Given the description of an element on the screen output the (x, y) to click on. 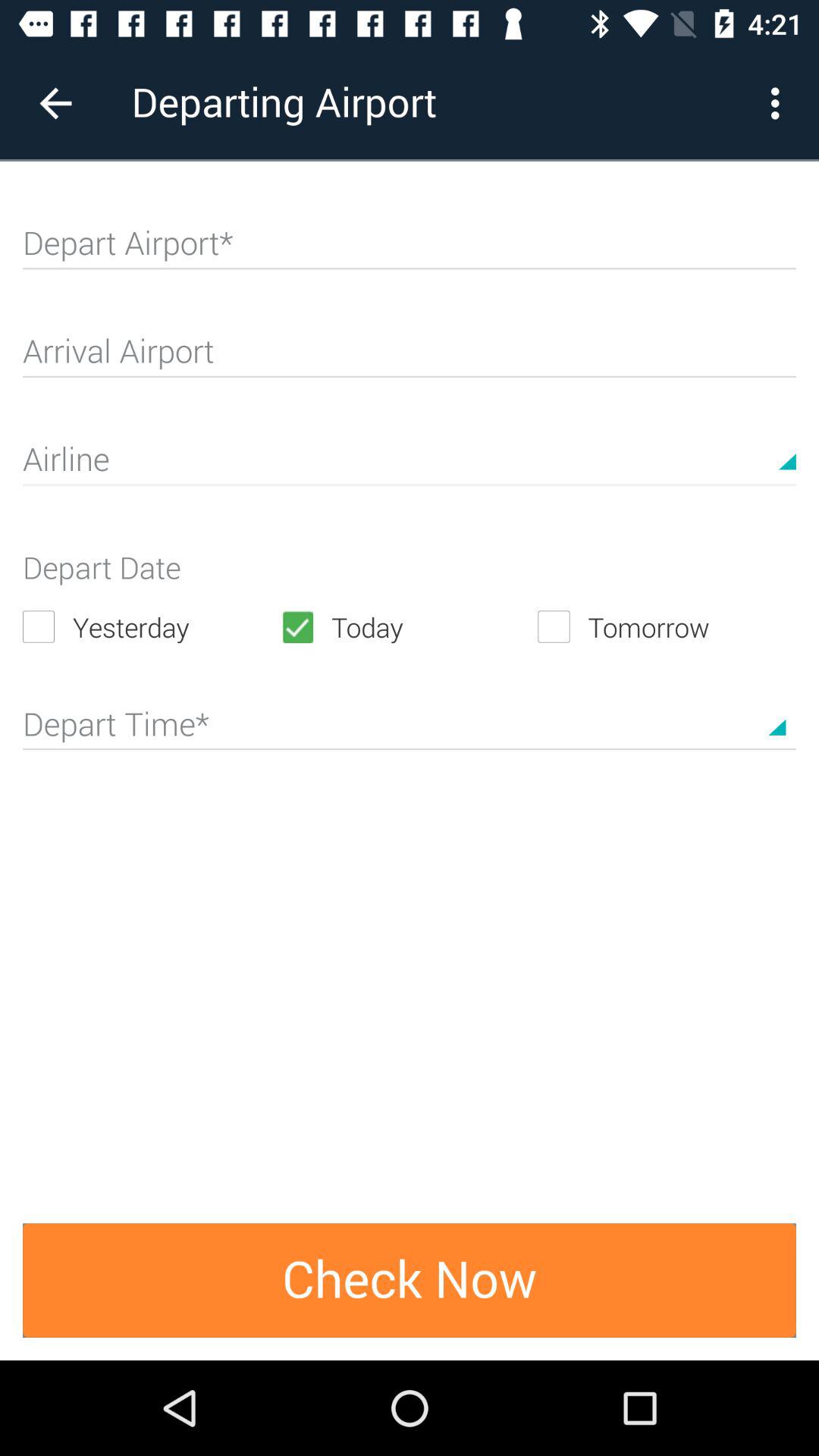
flip to today item (409, 626)
